Given the description of an element on the screen output the (x, y) to click on. 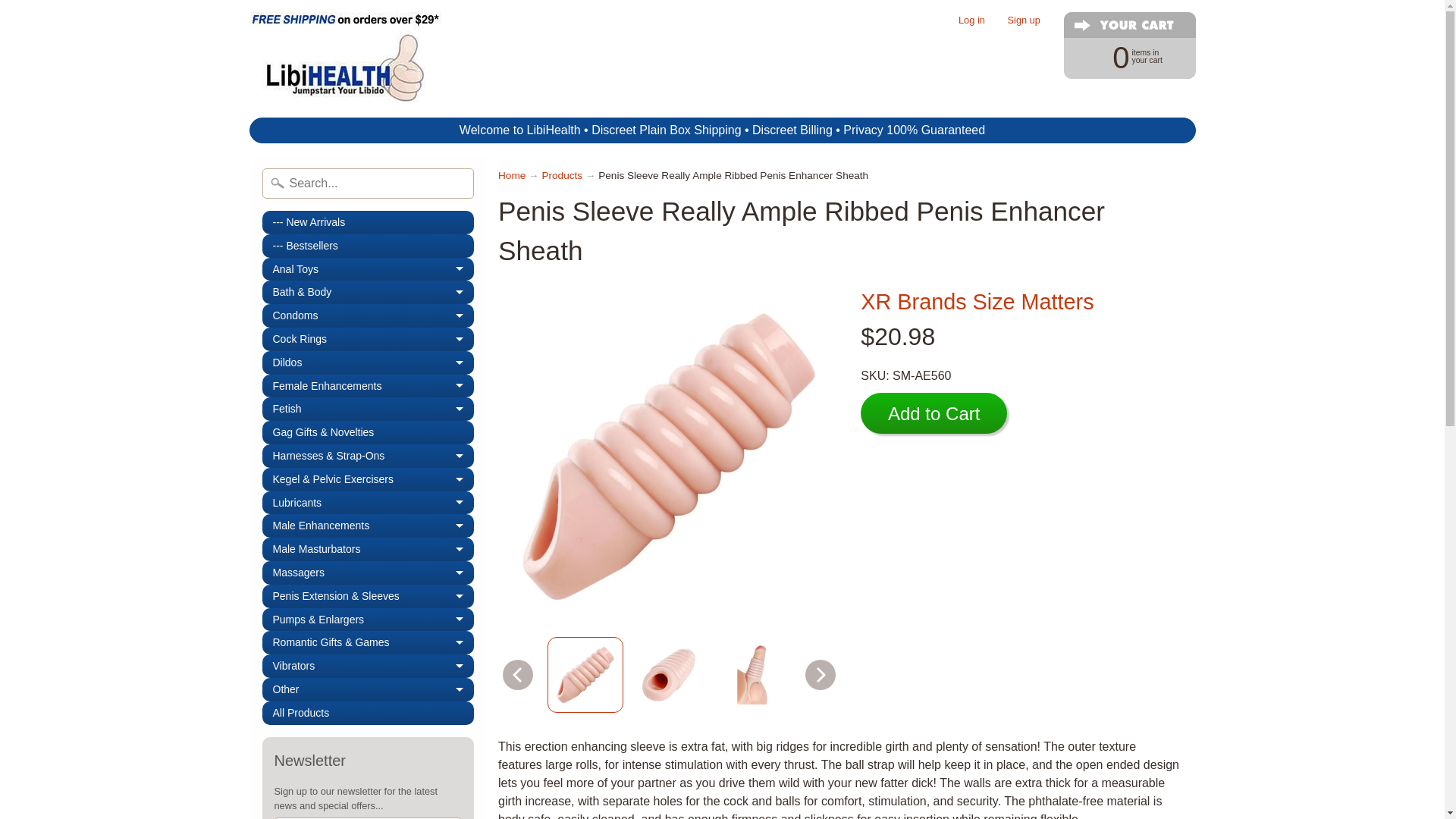
Penis Sleeve Really Ample Ribbed Penis Enhancer Sheath (668, 674)
--- Bestsellers (368, 245)
--- New Arrivals (368, 222)
Penis Sleeve Really Ample Ribbed Penis Enhancer Sheath (585, 674)
Log in (970, 20)
Condoms (368, 315)
Back to the home page (511, 174)
Penis Sleeve Really Ample Ribbed Penis Enhancer Sheath (1122, 56)
LibiHealth (752, 674)
